Given the description of an element on the screen output the (x, y) to click on. 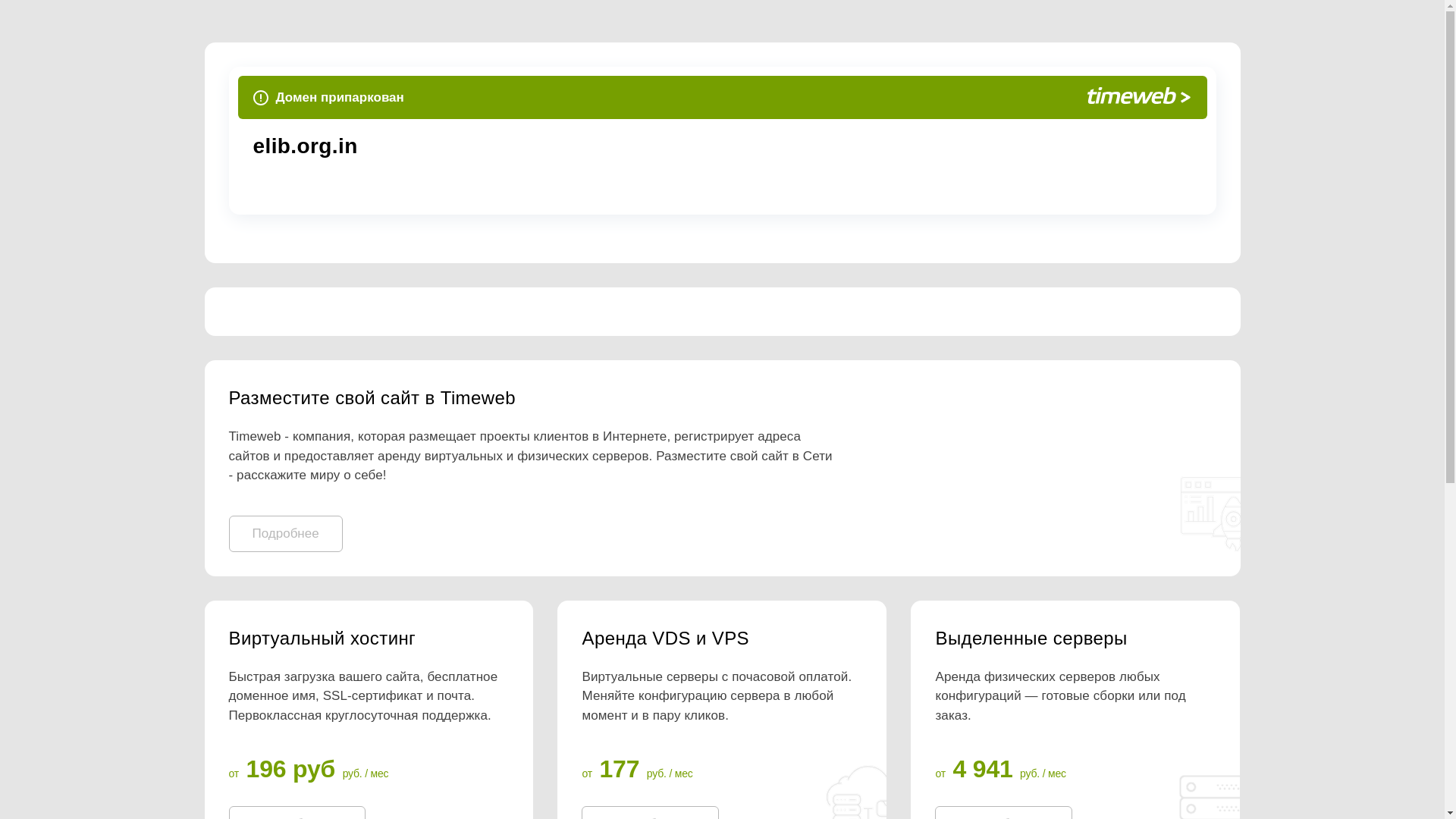
apt.ru (481, 146)
VDS (720, 637)
